Given the description of an element on the screen output the (x, y) to click on. 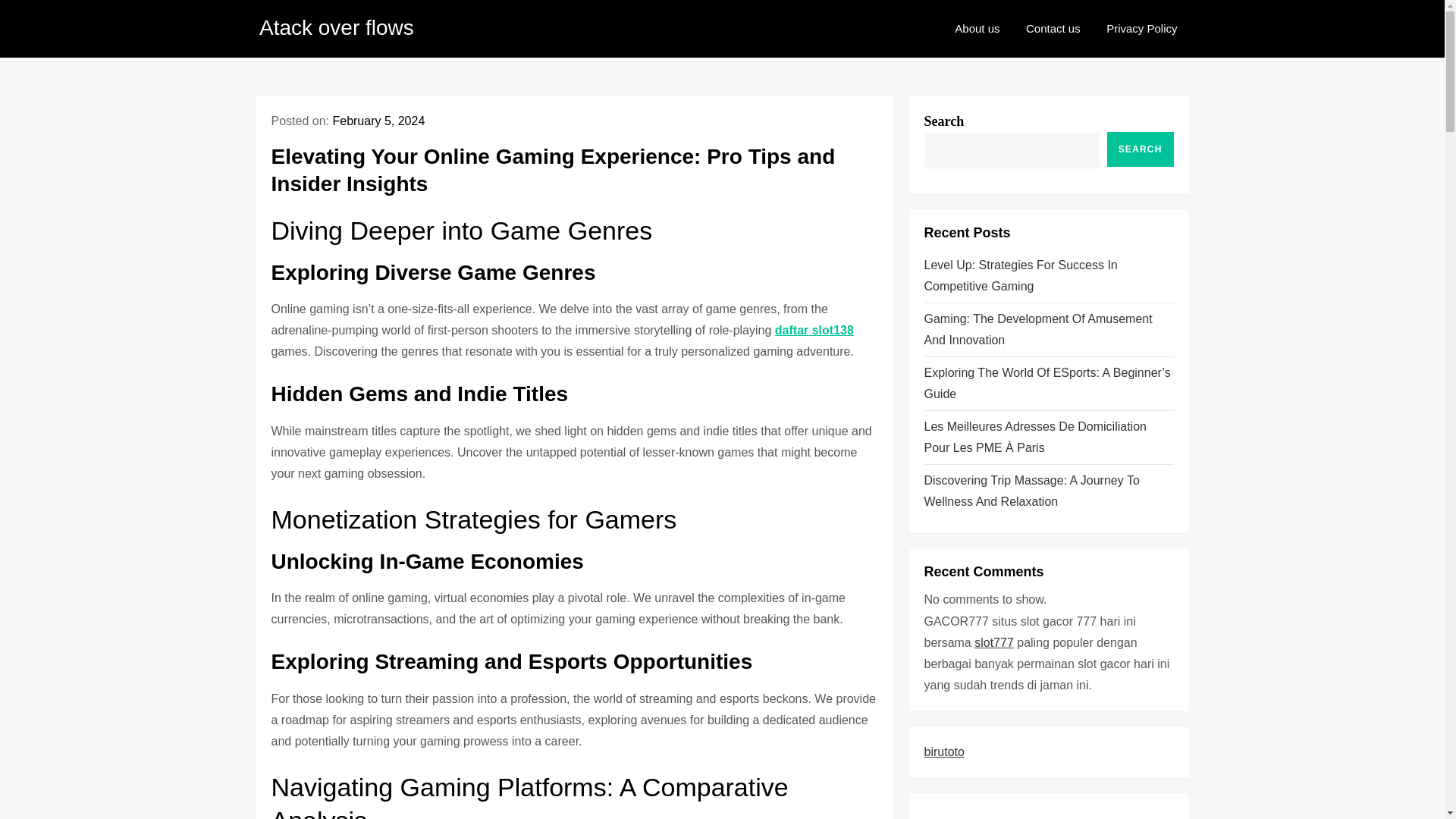
About us (976, 28)
Gaming: The Development Of Amusement And Innovation (1048, 329)
birutoto (943, 751)
Atack over flows (336, 27)
Contact us (1053, 28)
Privacy Policy (1141, 28)
Asiaslot88 (951, 816)
daftar slot138 (813, 329)
SEARCH (1139, 149)
February 5, 2024 (378, 120)
Level Up: Strategies For Success In Competitive Gaming (1048, 275)
slot777 (993, 642)
